Given the description of an element on the screen output the (x, y) to click on. 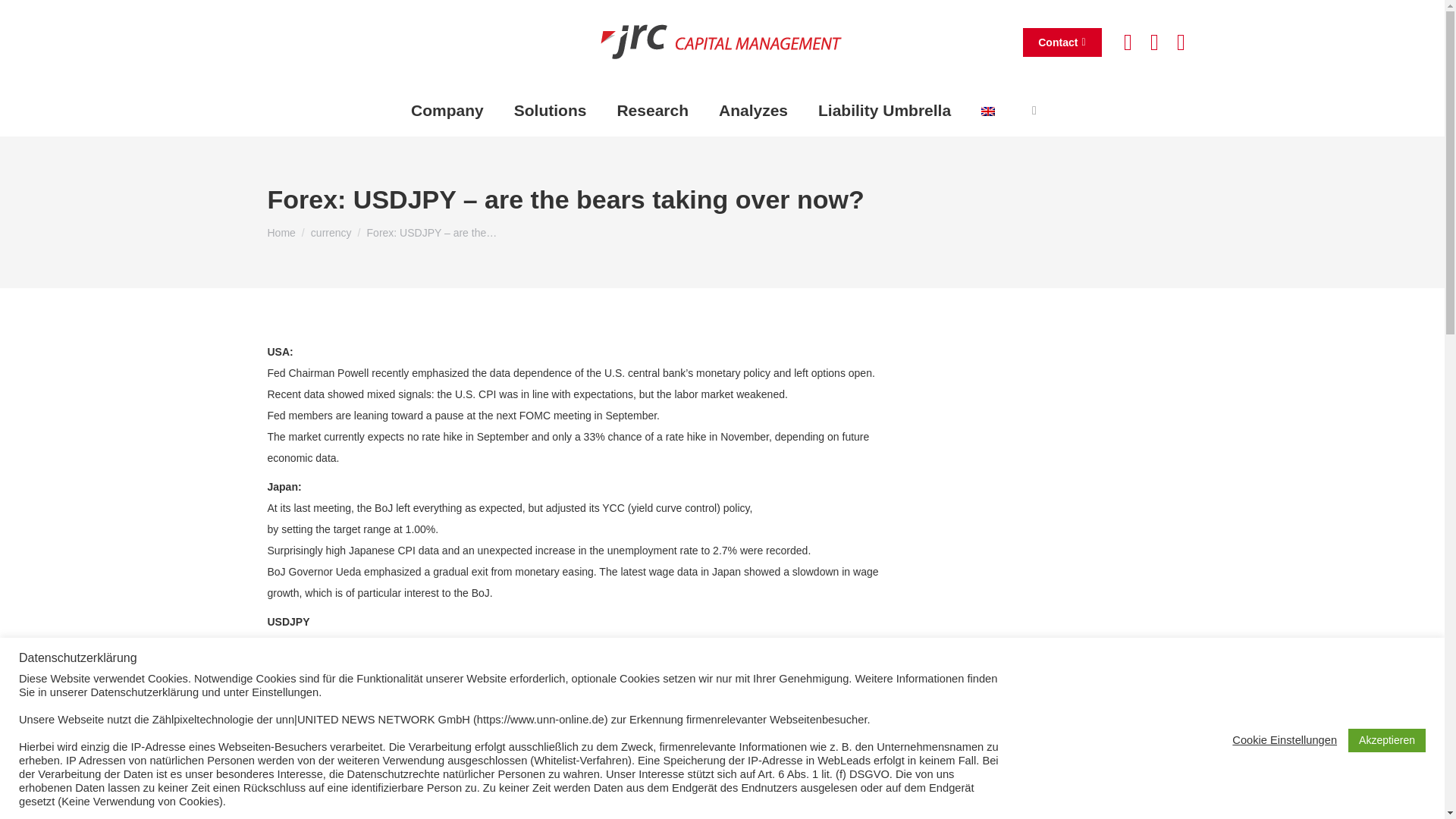
Contact (1061, 41)
Linkedin page opens in new window (1154, 41)
currency (331, 232)
Company (446, 109)
XING page opens in new window (1180, 41)
Solutions (550, 109)
XING page opens in new window (1180, 41)
X page opens in new window (1127, 41)
Linkedin page opens in new window (1154, 41)
Research (651, 109)
X page opens in new window (1127, 41)
Home (280, 232)
